Given the description of an element on the screen output the (x, y) to click on. 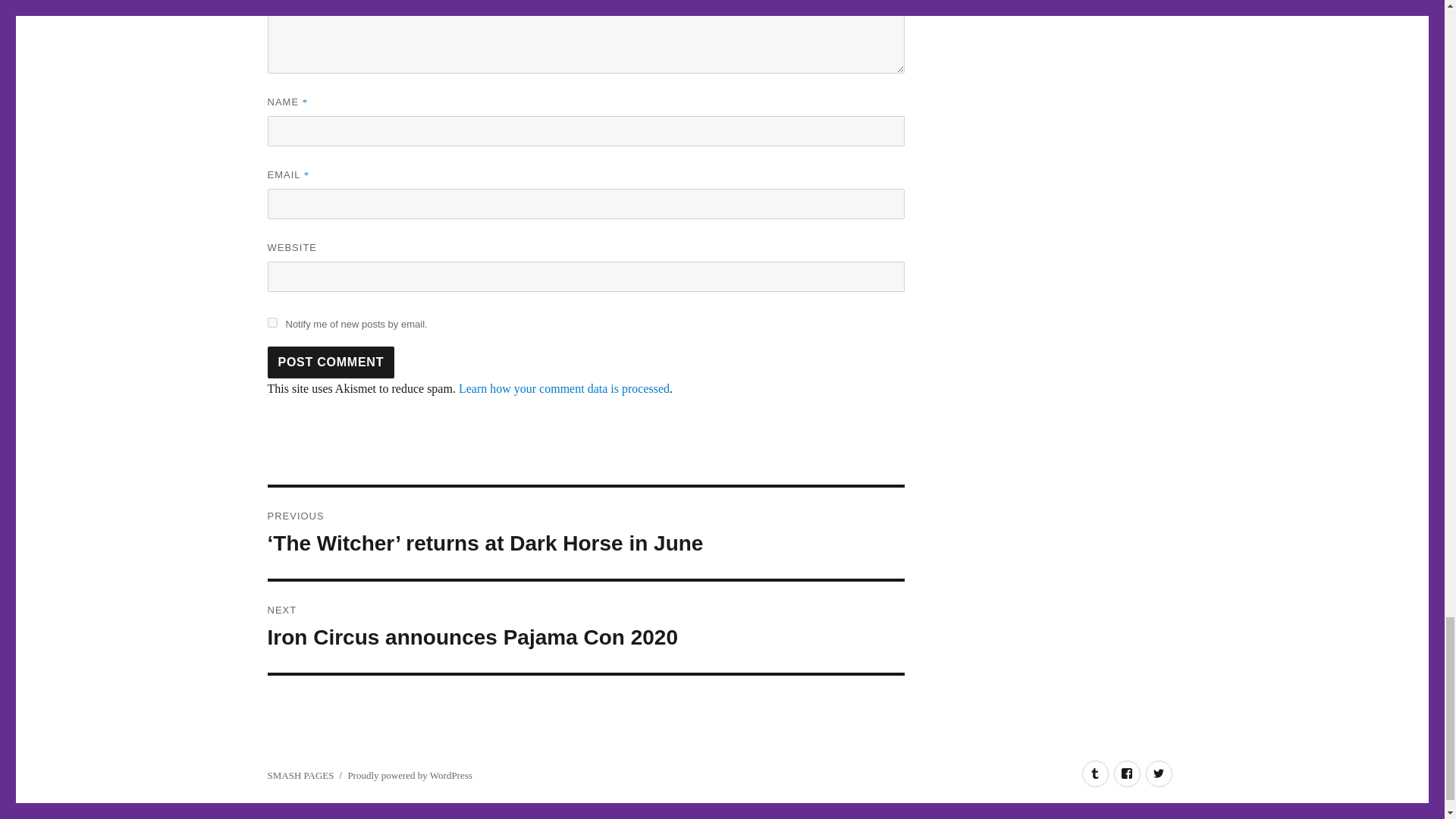
Learn how your comment data is processed (585, 626)
Post Comment (563, 388)
subscribe (330, 362)
Post Comment (271, 322)
